Given the description of an element on the screen output the (x, y) to click on. 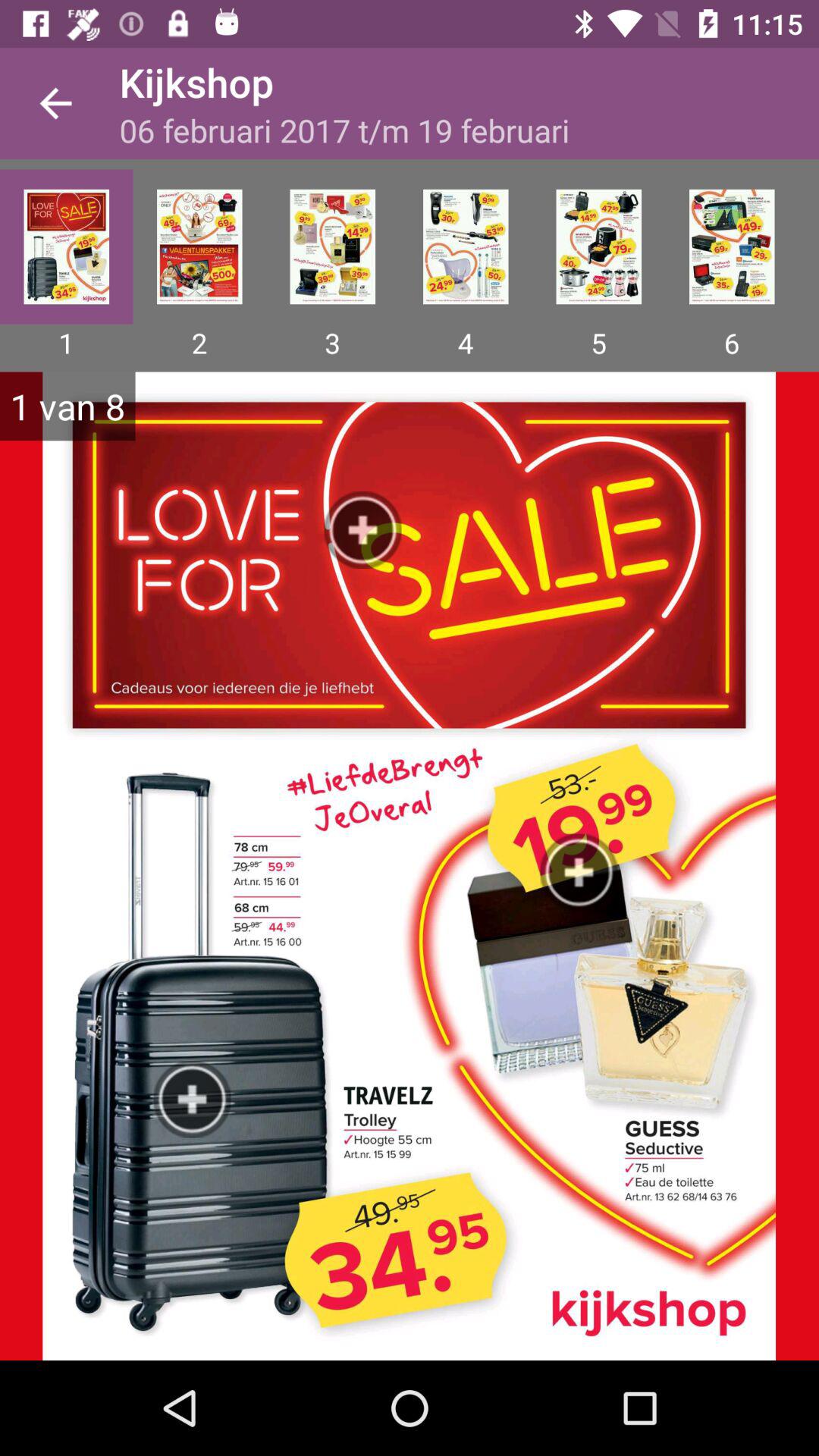
tap the item below 06 februari 2017 icon (332, 246)
